Given the description of an element on the screen output the (x, y) to click on. 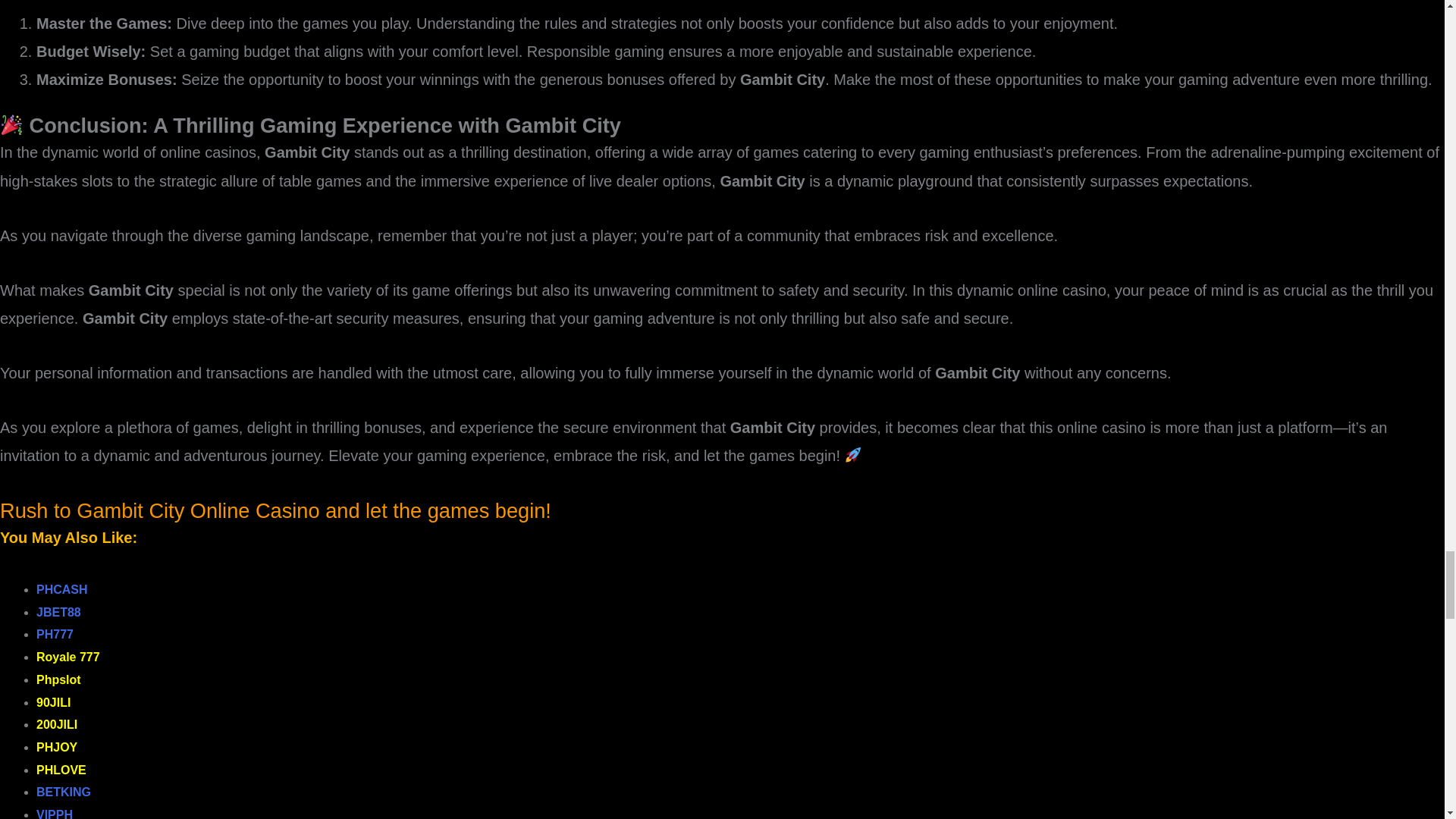
PHLOVE (60, 769)
90JILI (52, 702)
PH777 (55, 634)
Royale 777 (68, 656)
Phpslot (58, 679)
PHCASH (61, 589)
Rush to (38, 510)
PHJOY (56, 747)
nd let the games begin! (443, 510)
JBET88 (58, 612)
Gambit City Online Casino a (206, 510)
200JILI (56, 724)
